Given the description of an element on the screen output the (x, y) to click on. 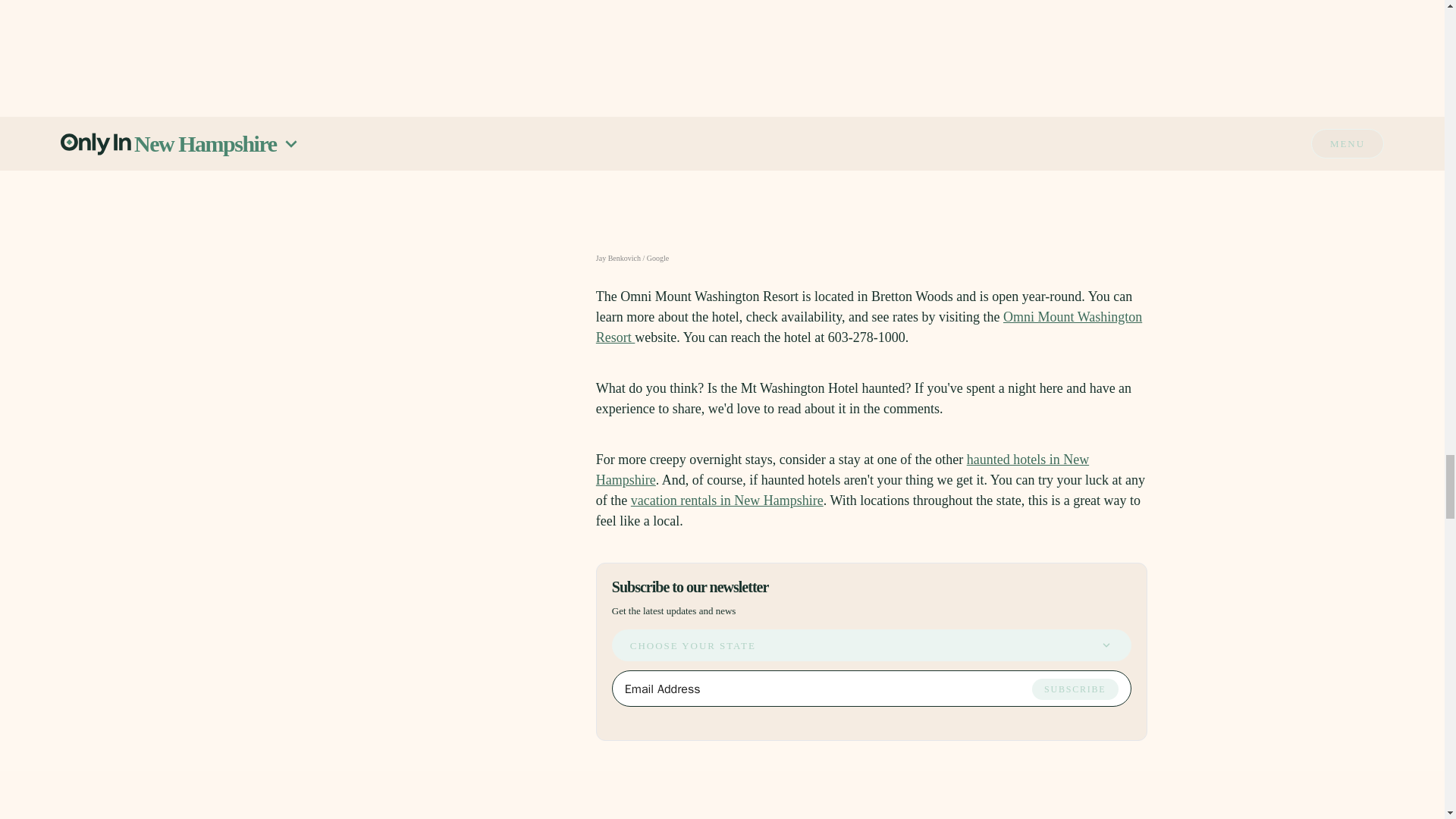
Omni Mount Washington Resort (868, 326)
haunted hotels in New Hampshire (842, 469)
SUBSCRIBE (1075, 689)
vacation rentals in New Hampshire (727, 500)
CHOOSE YOUR STATE (871, 644)
